Given the description of an element on the screen output the (x, y) to click on. 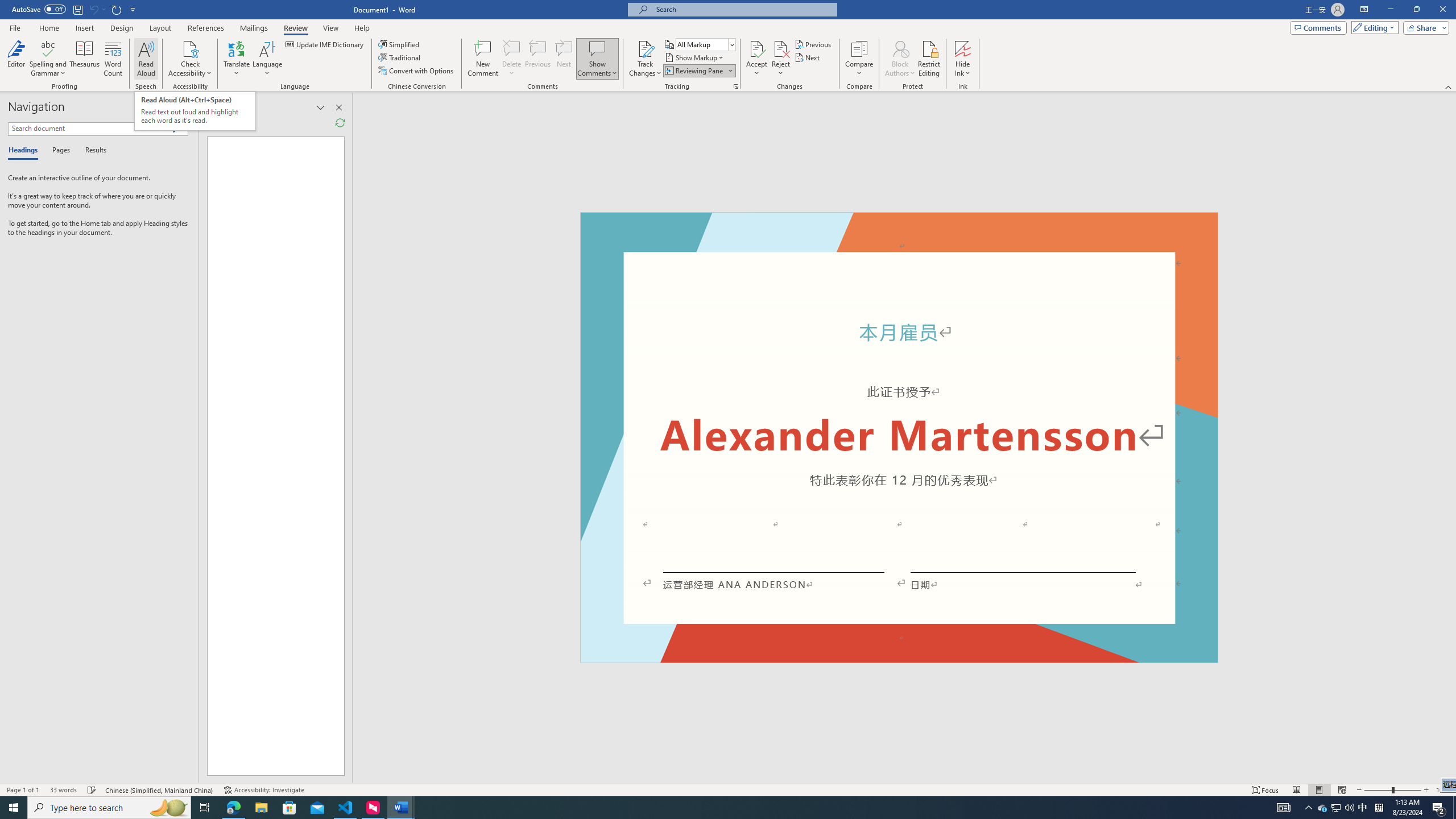
Language (267, 58)
Mailings (253, 28)
Design (122, 28)
New Comment (482, 58)
Spelling and Grammar Check Checking (91, 790)
Track Changes (644, 48)
Zoom 100% (1443, 790)
Spelling and Grammar (48, 48)
Show Detailed Summary (209, 122)
Class: MsoCommandBar (728, 789)
Close (1442, 9)
Save (77, 9)
Mode (1372, 27)
Reviewing Pane (698, 69)
